Given the description of an element on the screen output the (x, y) to click on. 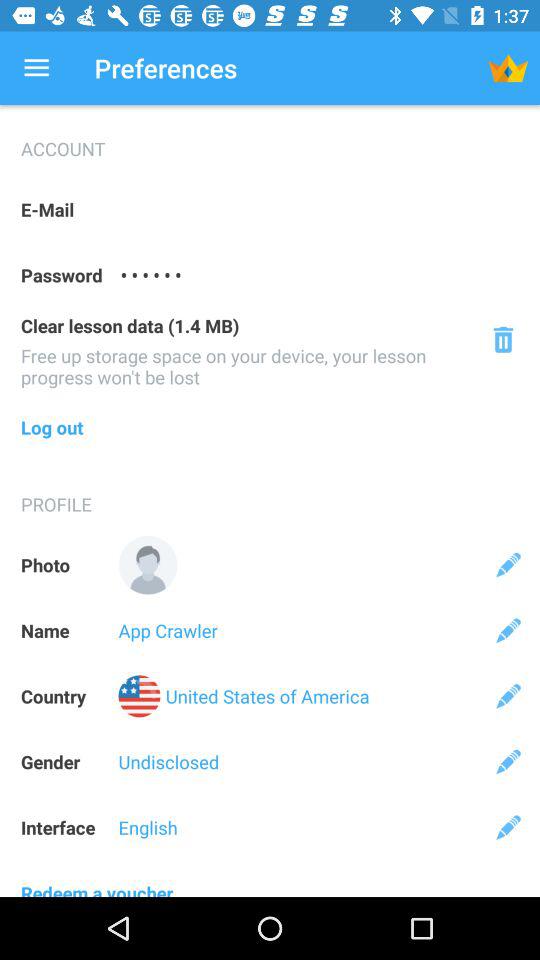
edit gender description (508, 761)
